Given the description of an element on the screen output the (x, y) to click on. 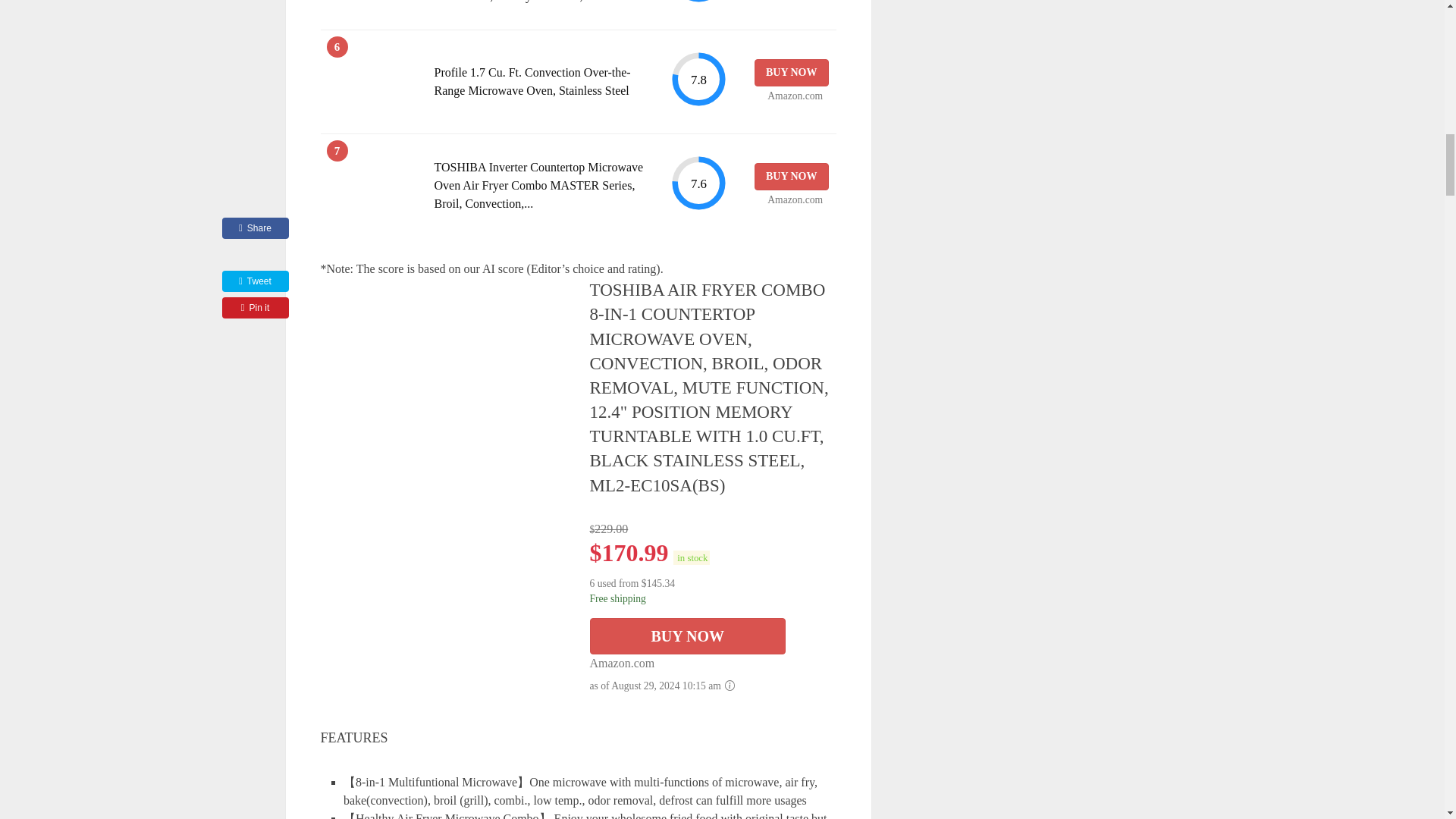
7.8 (697, 78)
Last updated on August 29, 2024 10:15 am (691, 557)
8.6 (697, 2)
7.6 (697, 182)
